Given the description of an element on the screen output the (x, y) to click on. 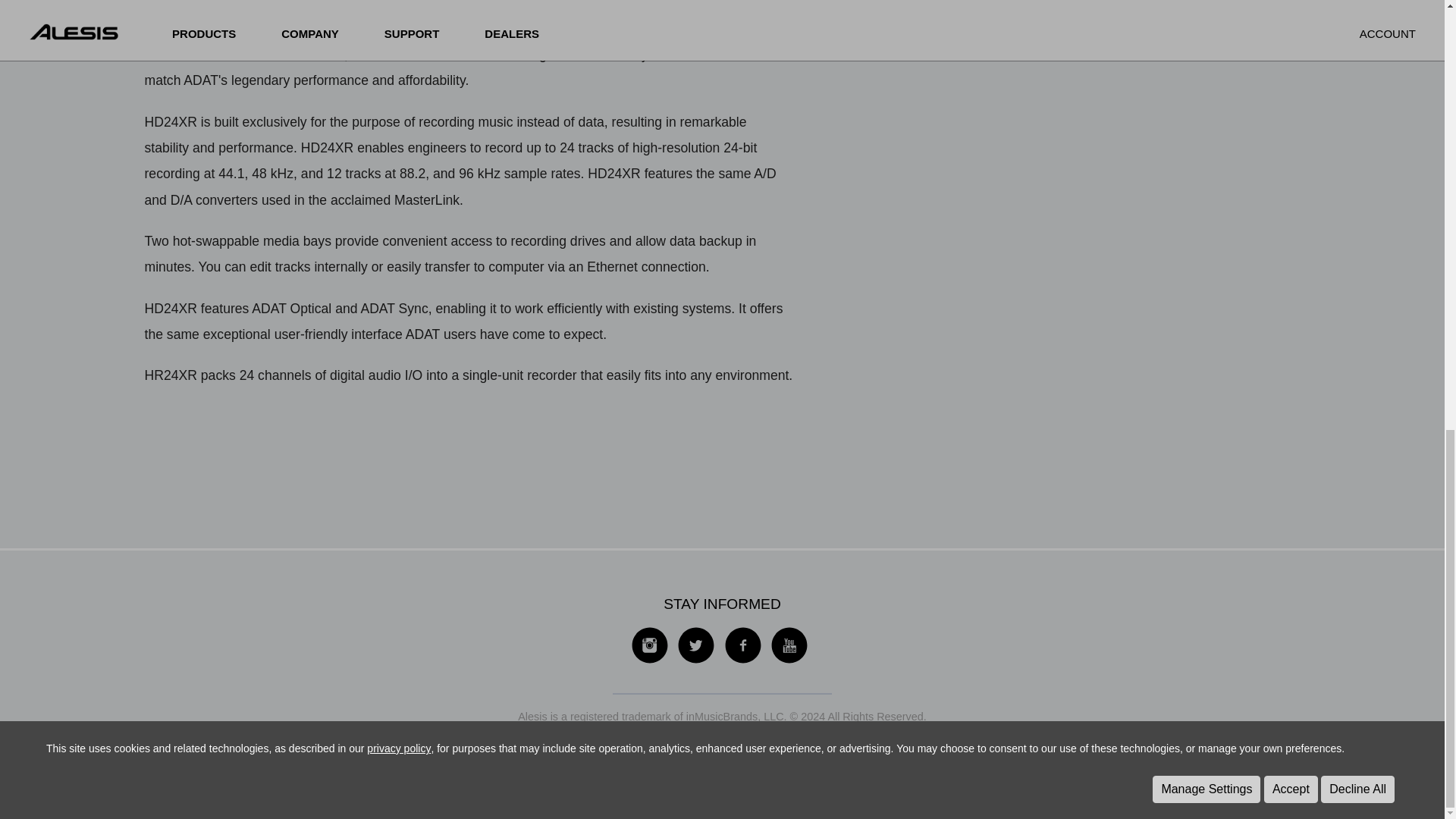
YouTube (789, 659)
X (695, 659)
Facebook (742, 659)
Instagram (649, 659)
